Given the description of an element on the screen output the (x, y) to click on. 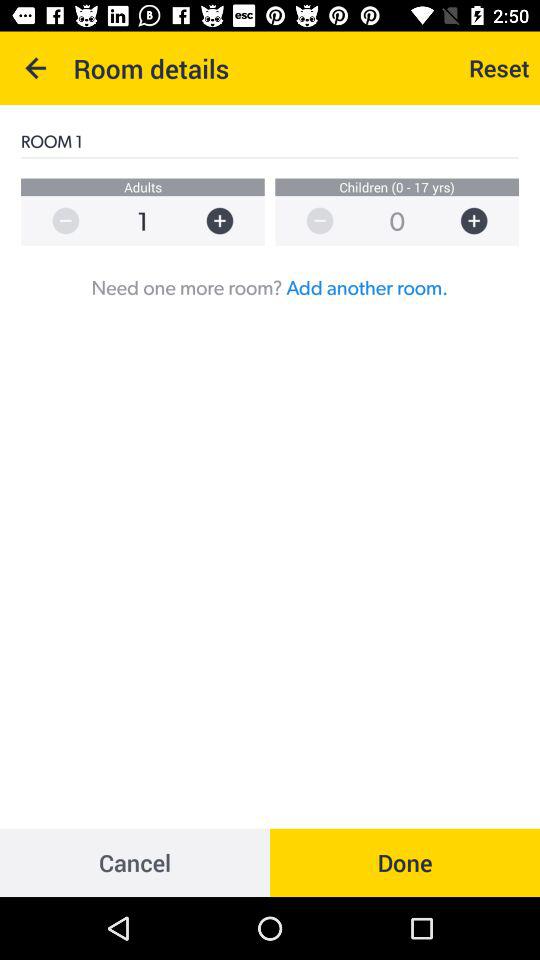
add adult (229, 220)
